Given the description of an element on the screen output the (x, y) to click on. 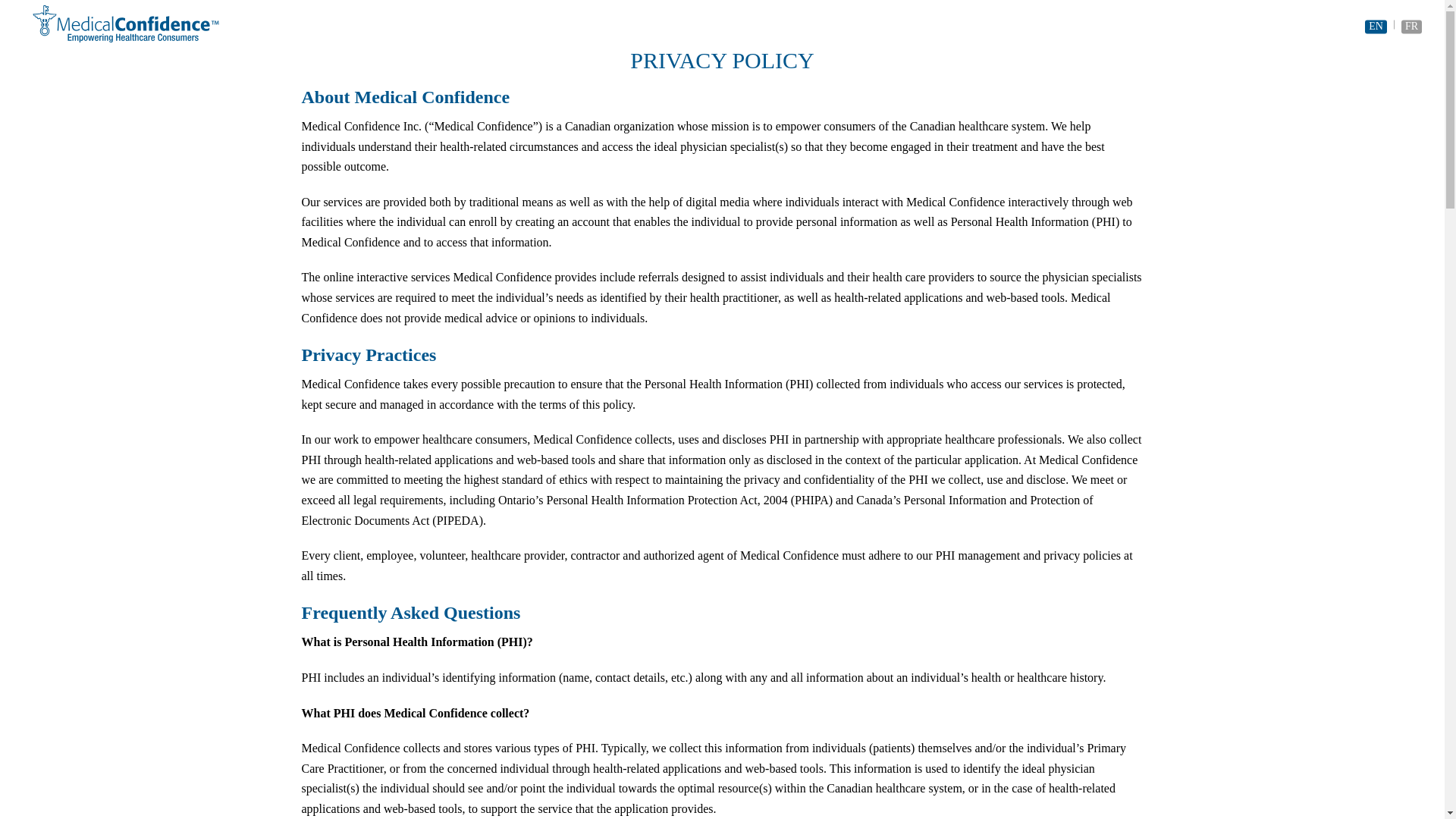
Empowering Healthcare Consumers (135, 26)
FR (1411, 26)
EN (1376, 26)
